Given the description of an element on the screen output the (x, y) to click on. 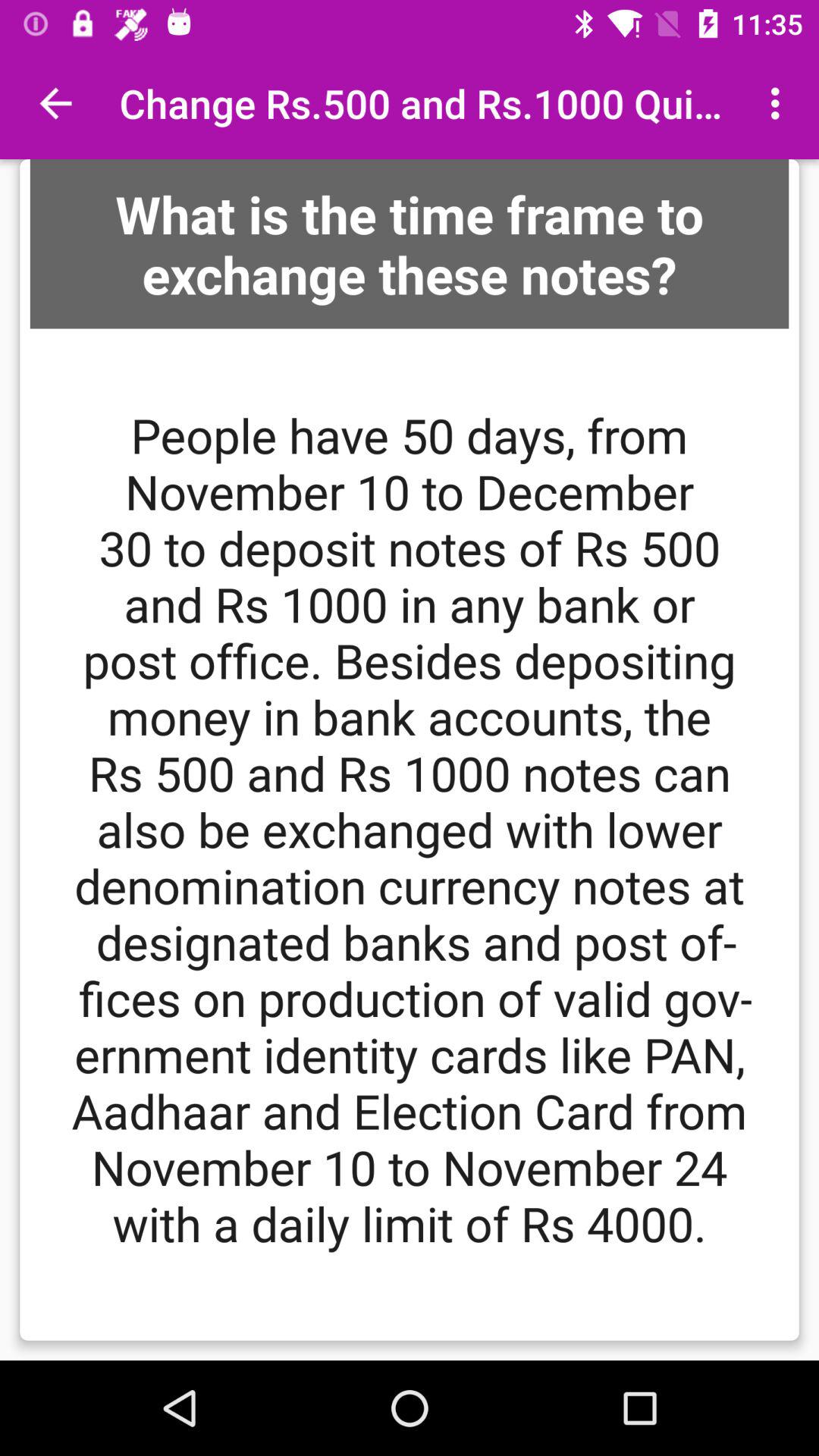
choose item at the top left corner (55, 103)
